Given the description of an element on the screen output the (x, y) to click on. 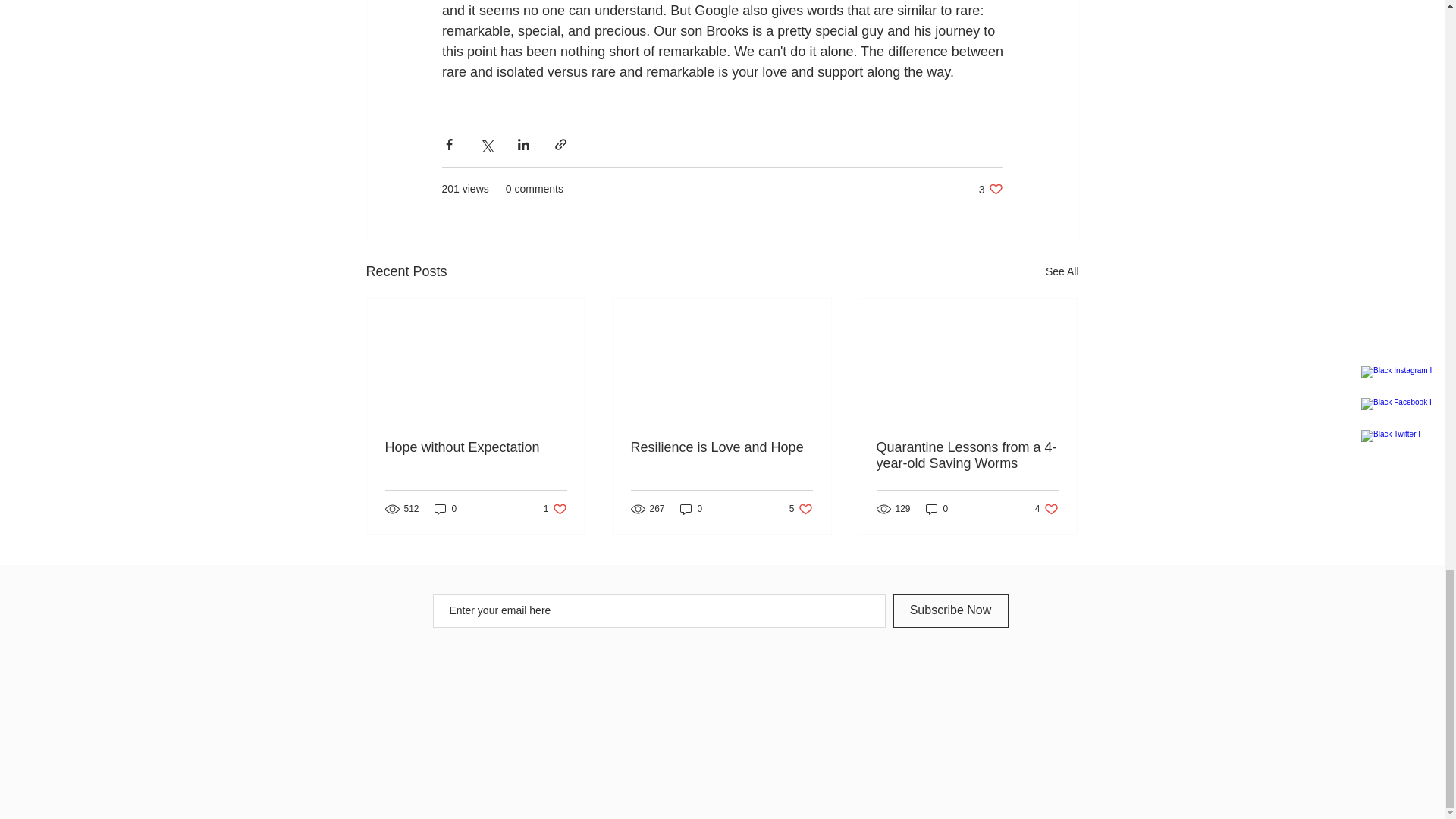
0 (990, 188)
0 (800, 508)
See All (445, 508)
Resilience is Love and Hope (691, 508)
Quarantine Lessons from a 4-year-old Saving Worms (1046, 508)
Hope without Expectation (1061, 271)
